Given the description of an element on the screen output the (x, y) to click on. 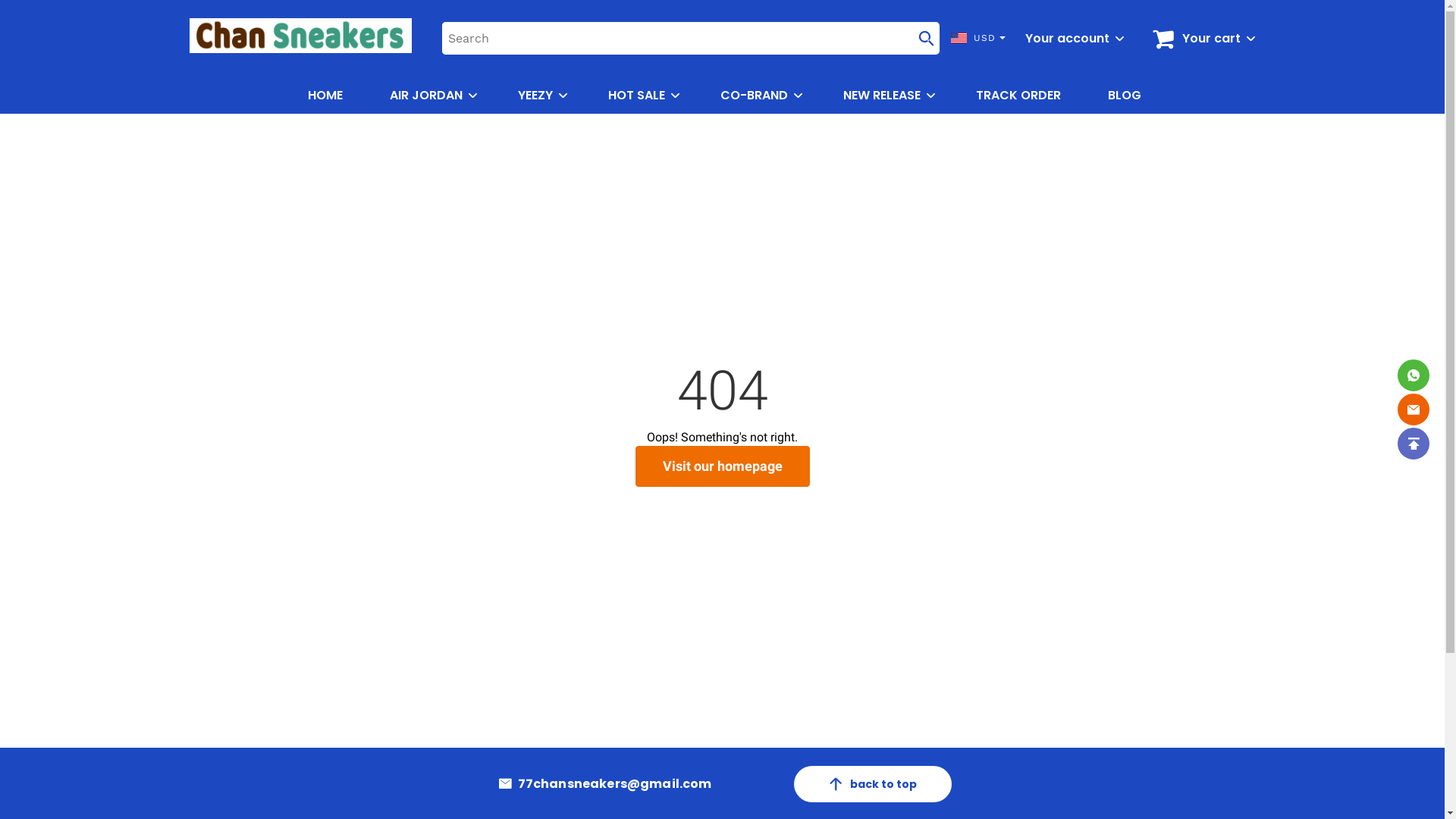
AIR JORDAN Element type: text (425, 94)
NEW RELEASE Element type: text (881, 94)
YEEZY Element type: text (534, 94)
77chansneakers@gmail.com Element type: text (614, 783)
CO-BRAND Element type: text (753, 94)
TRACK ORDER Element type: text (1017, 94)
USD Element type: text (975, 37)
HOT SALE Element type: text (636, 94)
Visit our homepage Element type: text (722, 466)
HOME Element type: text (324, 94)
Your cart Element type: text (1210, 38)
back to top Element type: text (871, 783)
BLOG Element type: text (1124, 94)
